Given the description of an element on the screen output the (x, y) to click on. 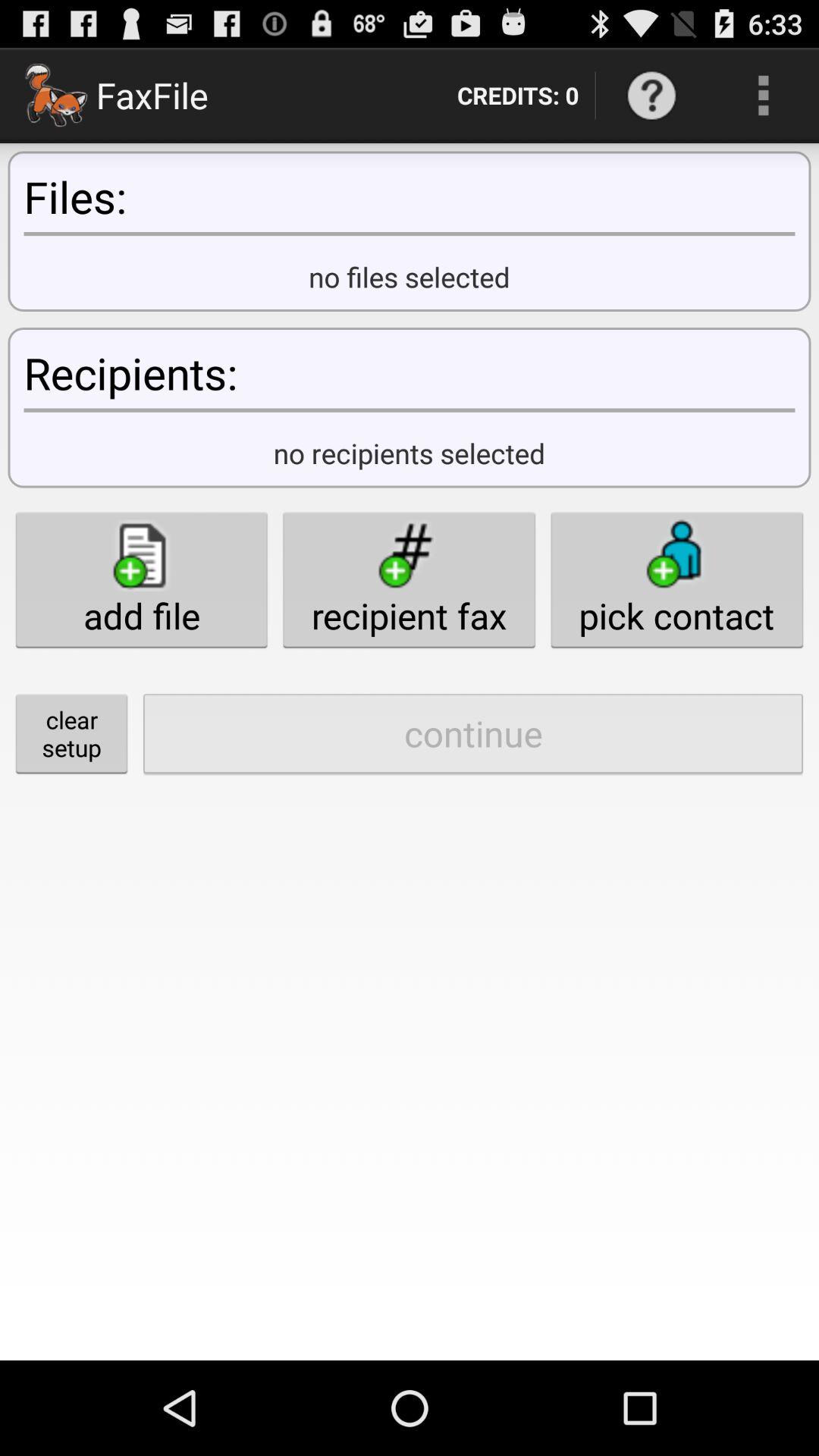
scroll to add file icon (141, 579)
